Given the description of an element on the screen output the (x, y) to click on. 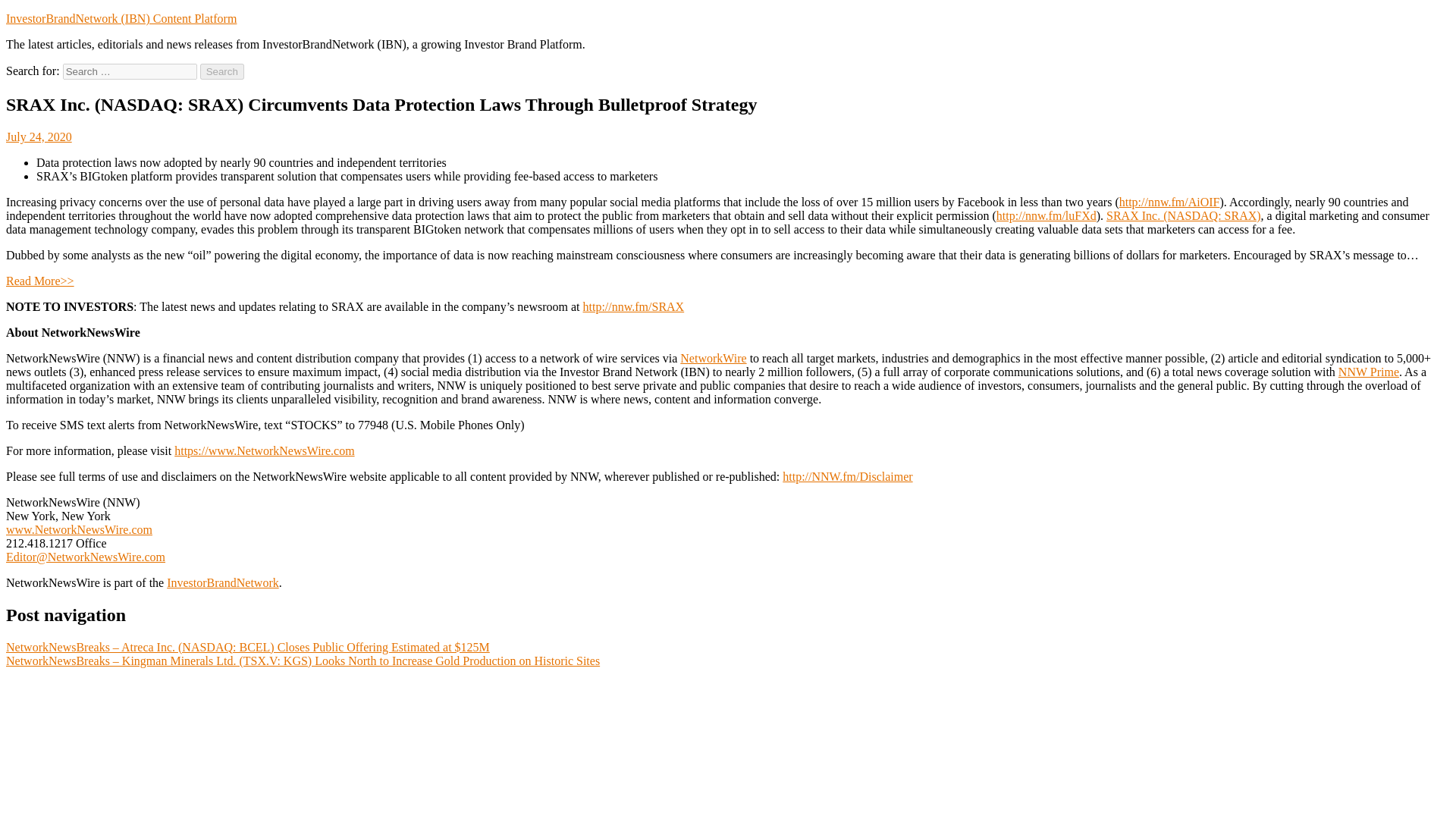
Search (222, 71)
Search (222, 71)
InvestorBrandNetwork (223, 582)
NetworkWire (712, 358)
July 24, 2020 (38, 136)
www.NetworkNewsWire.com (78, 529)
NNW Prime (1368, 371)
Search (222, 71)
